Given the description of an element on the screen output the (x, y) to click on. 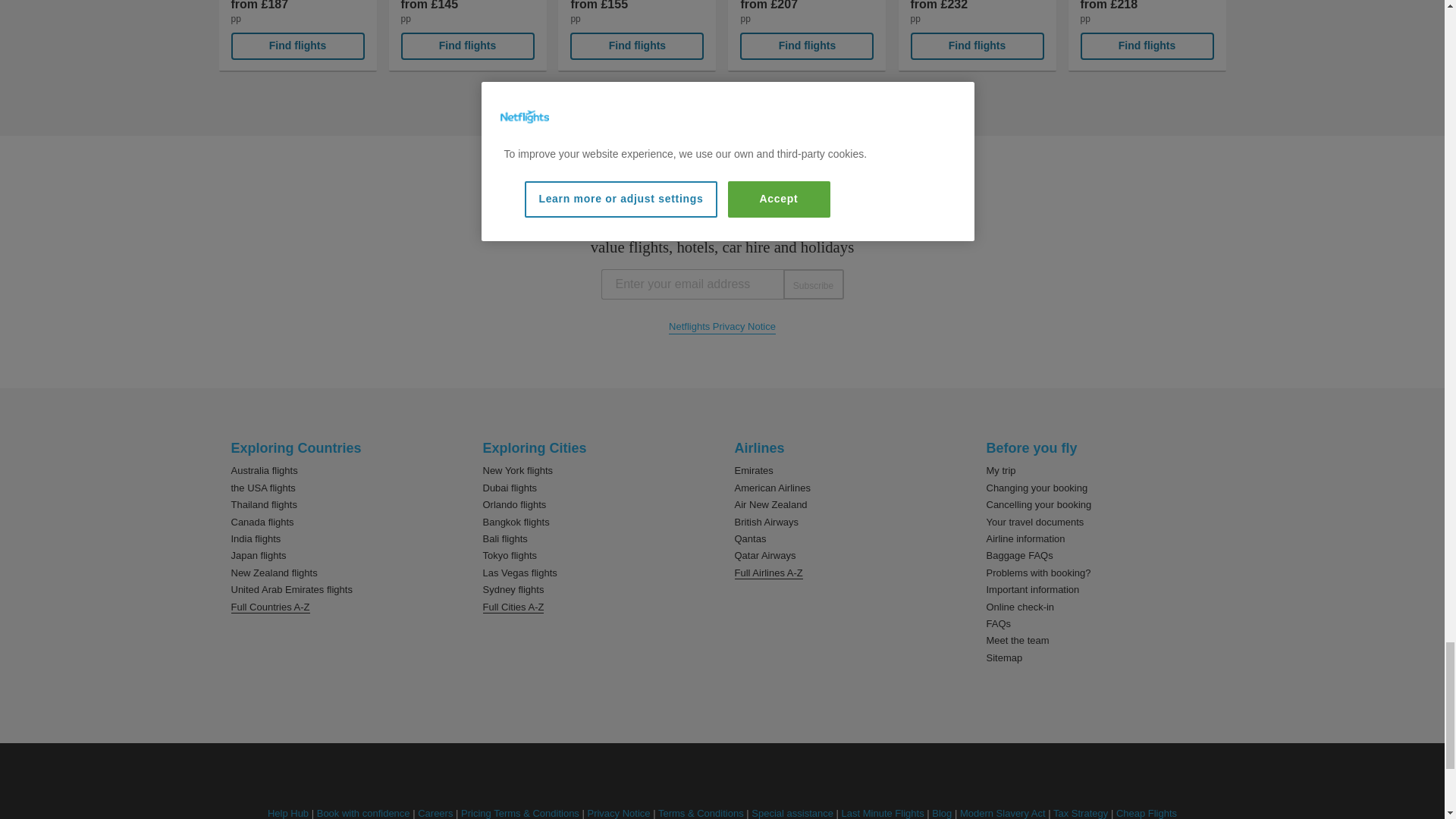
Dnata Careers (434, 813)
cheap flights (1146, 813)
Help Hub (287, 813)
